Given the description of an element on the screen output the (x, y) to click on. 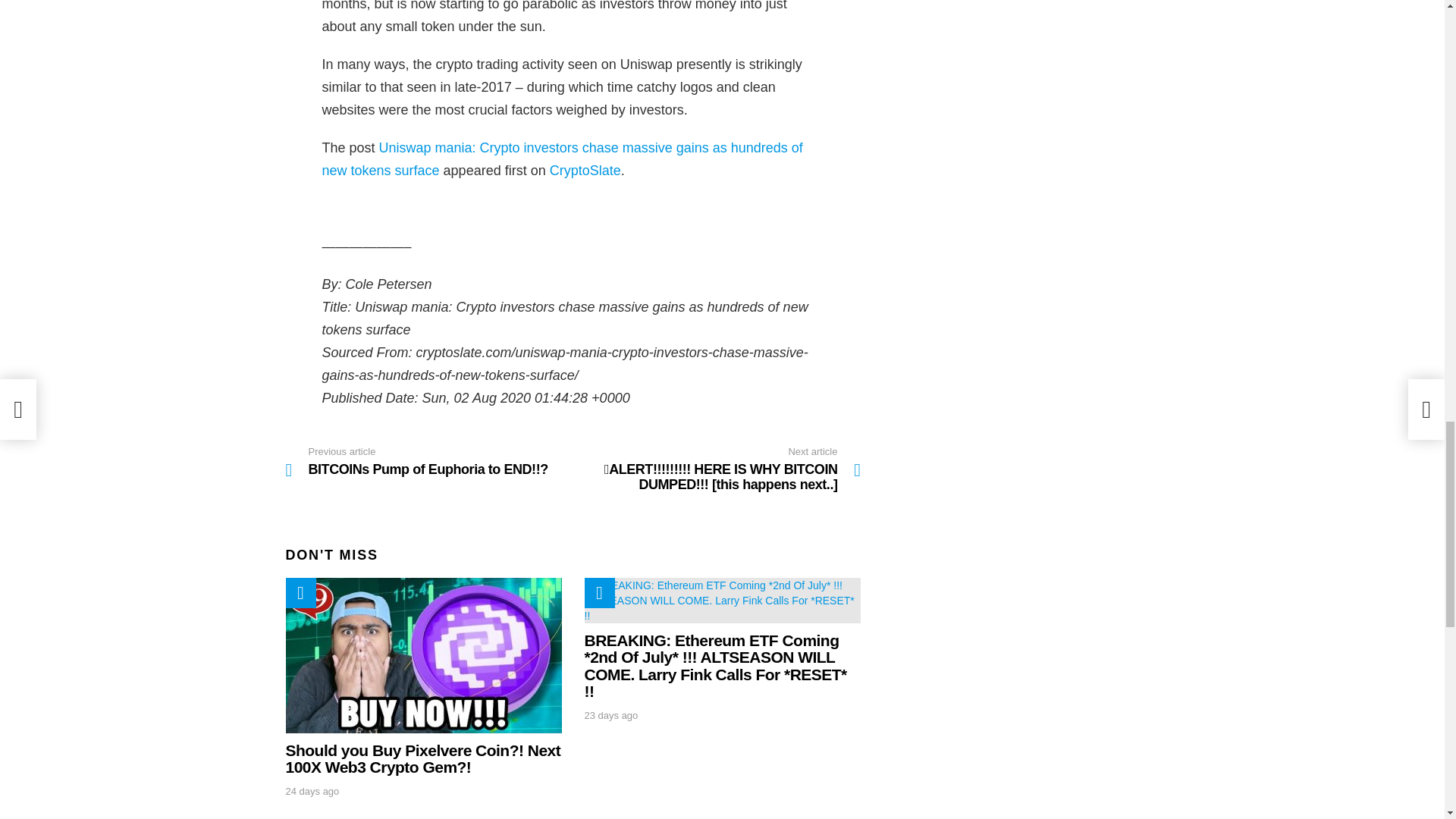
Hot (598, 593)
Hot (300, 593)
Hot (598, 593)
CryptoSlate (585, 170)
July 21, 2024, 8:17 am (610, 715)
July 20, 2024, 10:18 pm (312, 791)
Should you Buy Pixelvere Coin?! Next 100X Web3 Crypto Gem?! (422, 655)
Hot (428, 461)
